Given the description of an element on the screen output the (x, y) to click on. 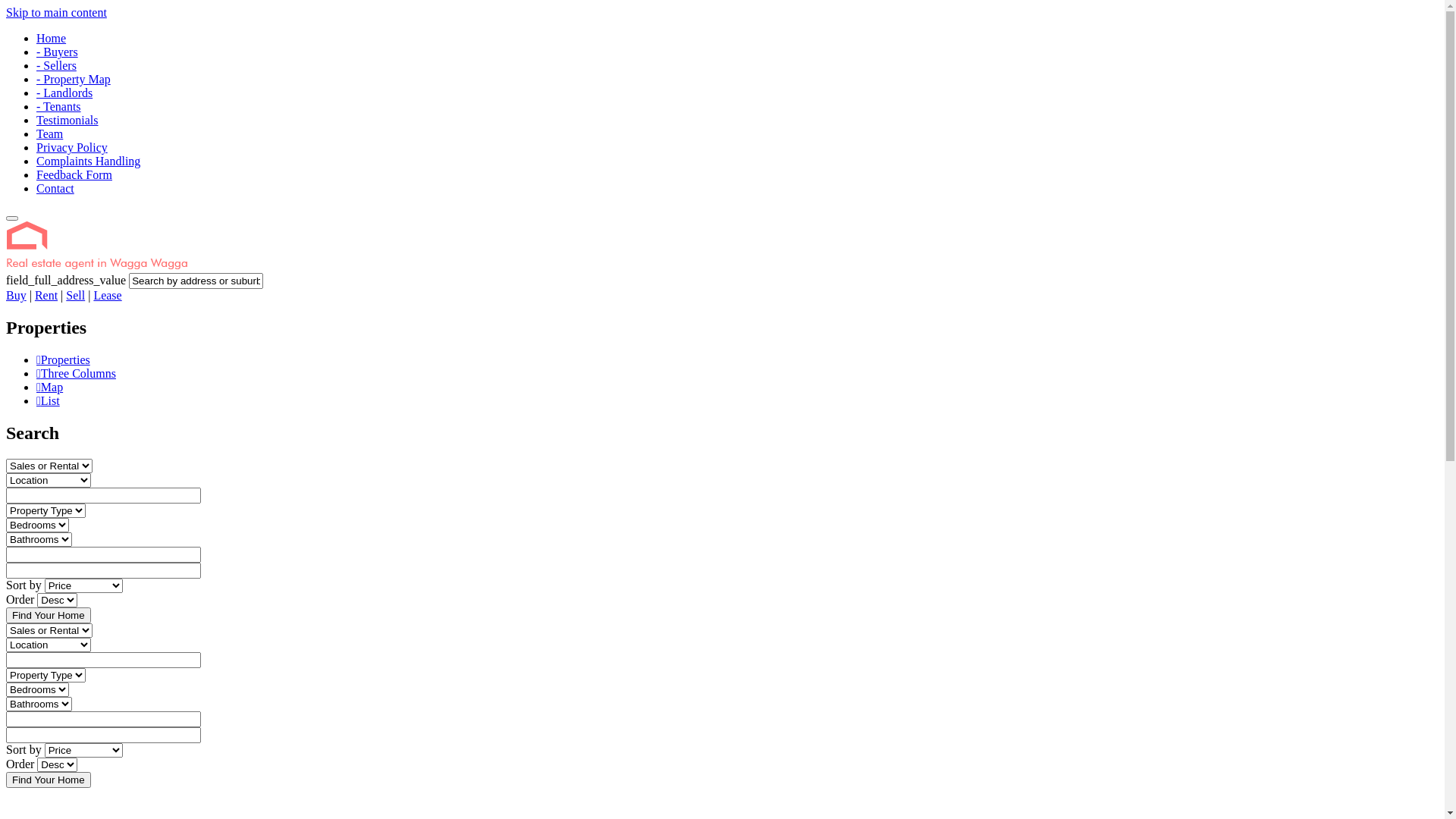
Skip to main content Element type: text (56, 12)
List Element type: text (47, 401)
Complaints Handling Element type: text (88, 160)
Lease Element type: text (107, 294)
Feedback Form Element type: text (74, 174)
Home Element type: text (50, 37)
- Sellers Element type: text (56, 65)
Map Element type: text (49, 387)
- Tenants Element type: text (58, 106)
Contact Element type: text (55, 188)
Sell Element type: text (74, 294)
Privacy Policy Element type: text (71, 147)
Home Element type: hover (126, 265)
Buy Element type: text (16, 294)
Find Your Home Element type: text (48, 779)
Rent Element type: text (45, 294)
Find Your Home Element type: text (48, 615)
Testimonials Element type: text (67, 119)
- Landlords Element type: text (64, 92)
- Buyers Element type: text (57, 51)
Three Columns Element type: text (76, 373)
Team Element type: text (49, 133)
Properties Element type: text (63, 360)
- Property Map Element type: text (73, 78)
